Given the description of an element on the screen output the (x, y) to click on. 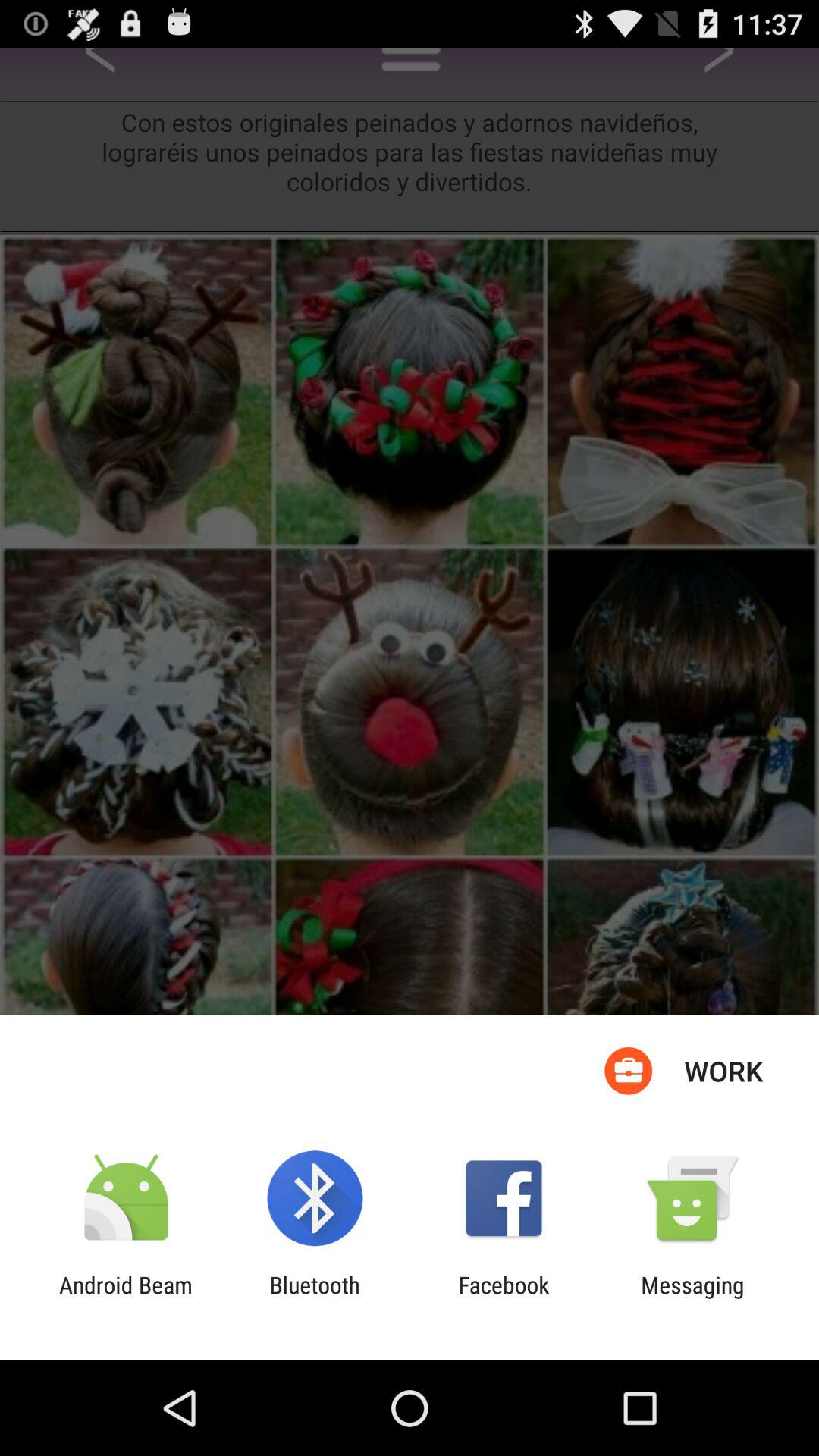
jump until the android beam item (125, 1298)
